Given the description of an element on the screen output the (x, y) to click on. 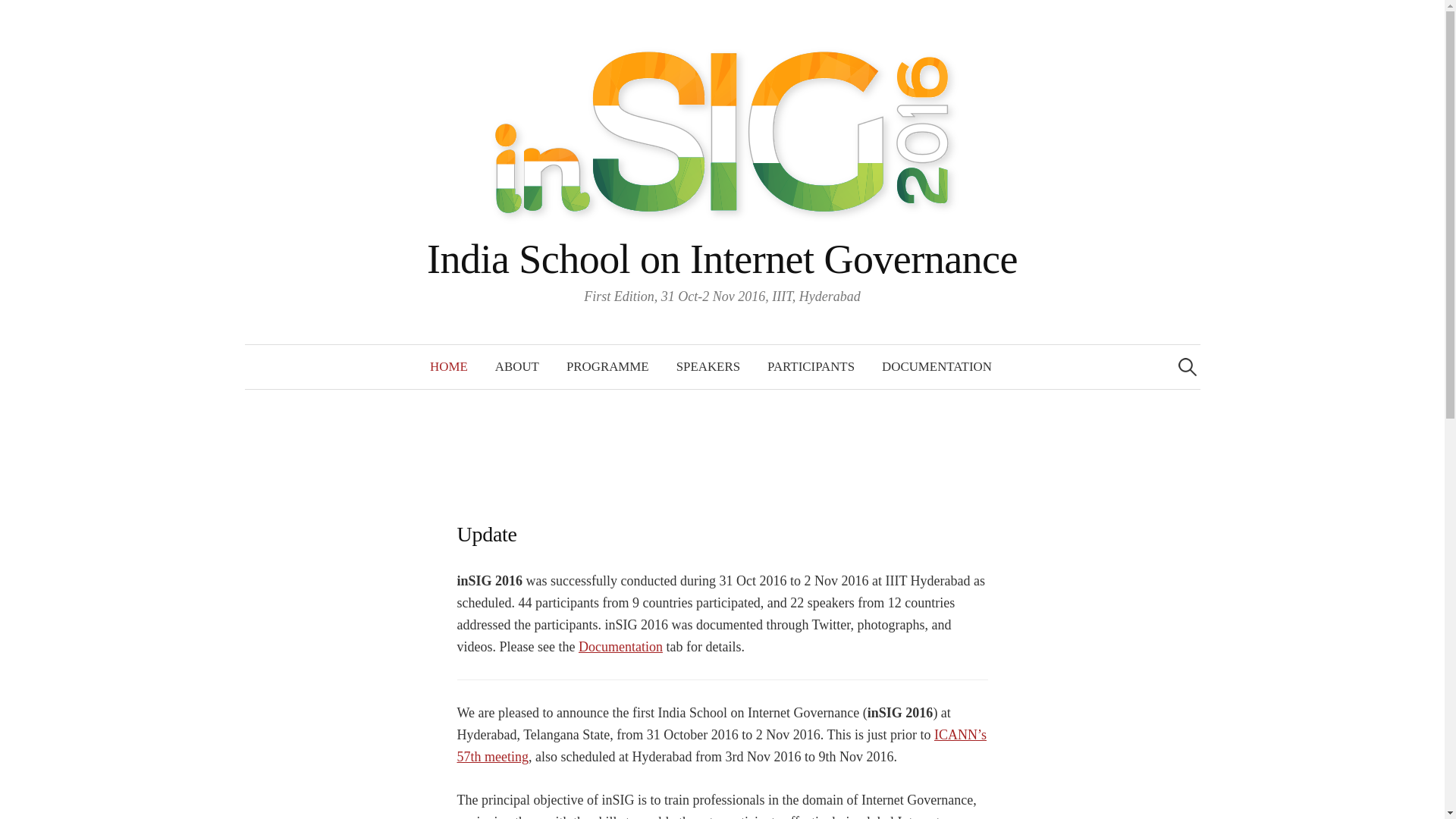
HOME (448, 366)
Documentation (620, 646)
ABOUT (517, 366)
DOCUMENTATION (936, 366)
PROGRAMME (607, 366)
SPEAKERS (708, 366)
Search (18, 18)
India School on Internet Governance (721, 258)
PARTICIPANTS (810, 366)
